Given the description of an element on the screen output the (x, y) to click on. 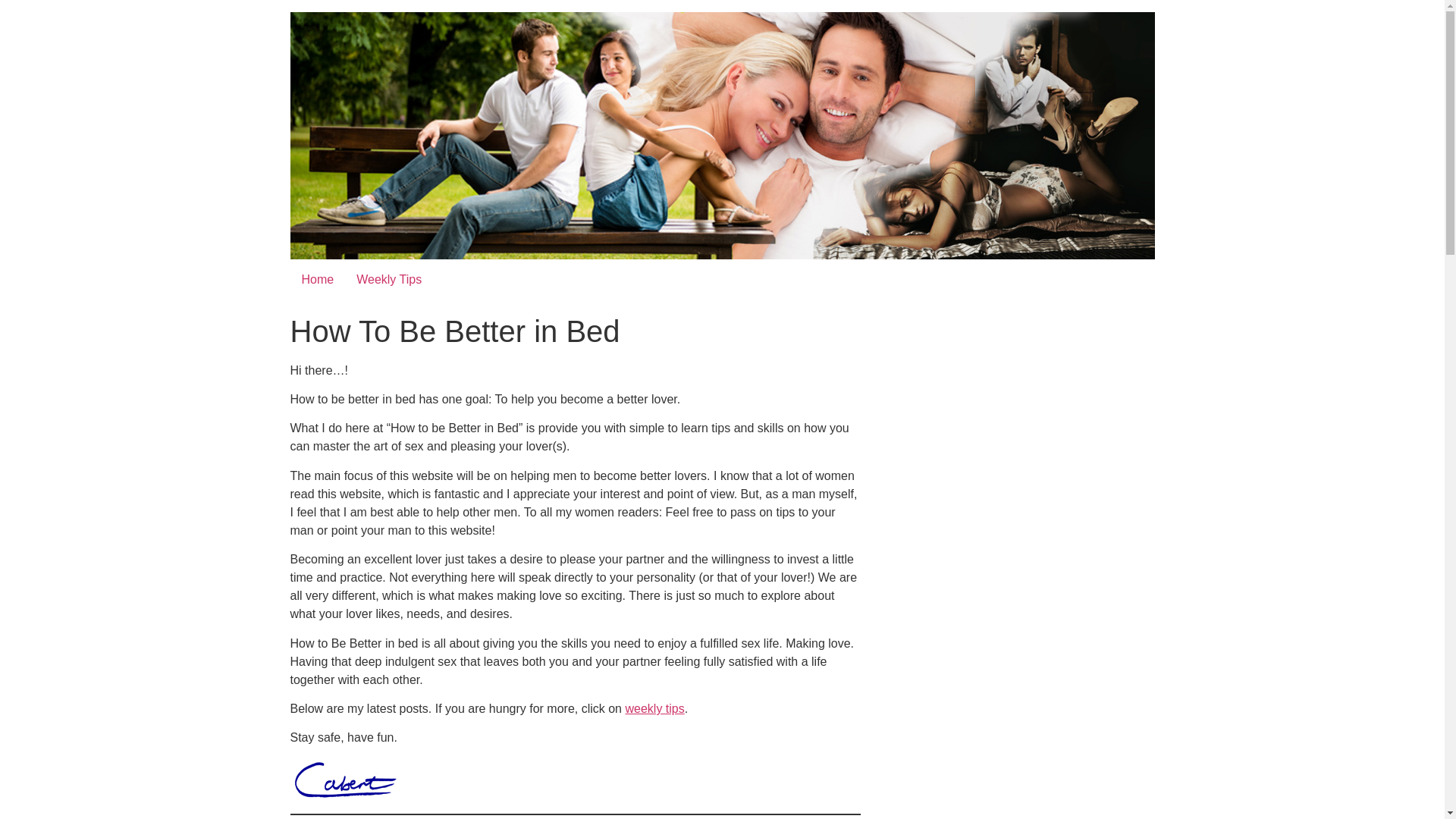
Home (317, 279)
Weekly Tips (388, 279)
weekly tips (654, 707)
